Given the description of an element on the screen output the (x, y) to click on. 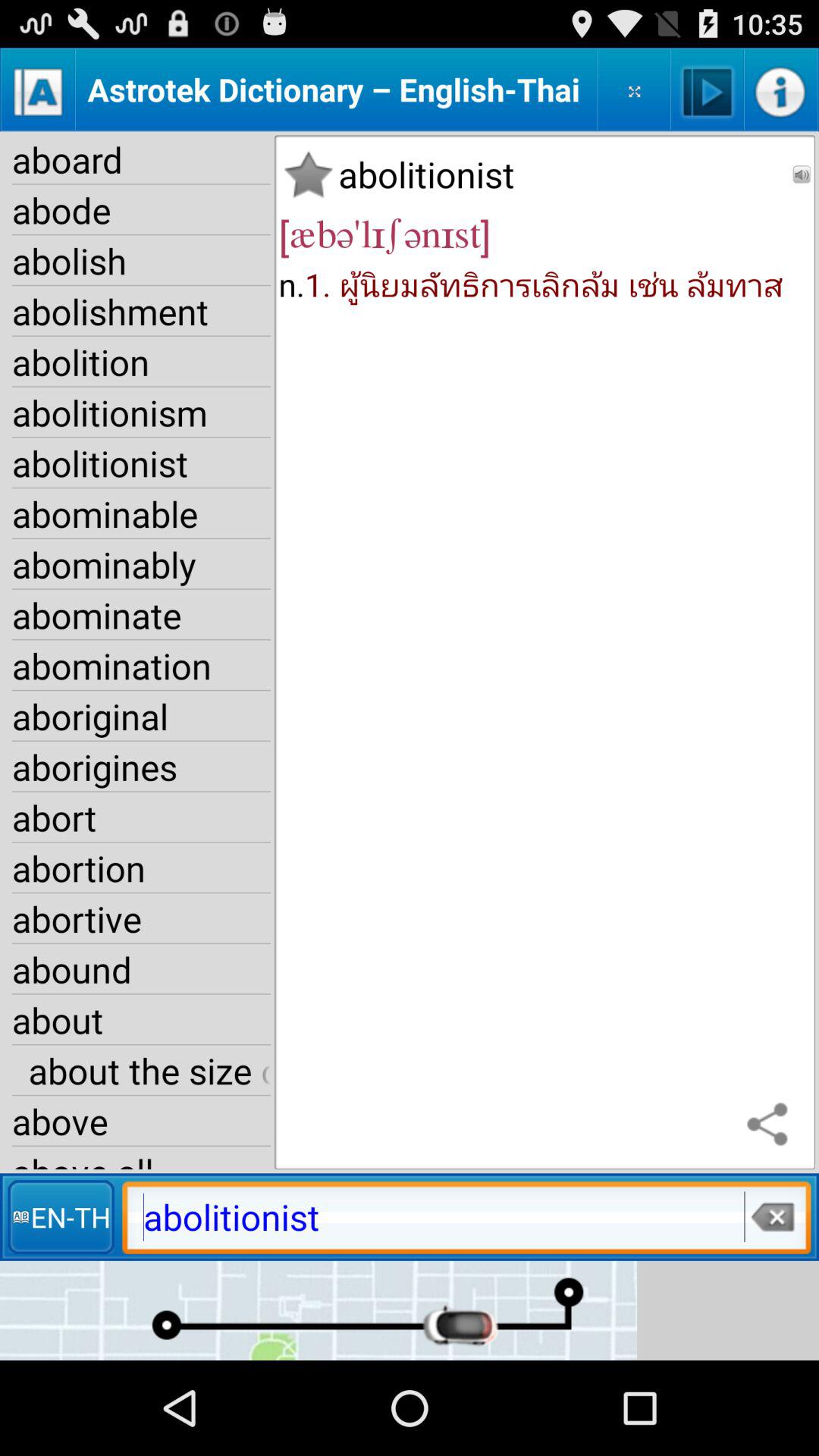
tap the icon above aboriginal (140, 665)
